Given the description of an element on the screen output the (x, y) to click on. 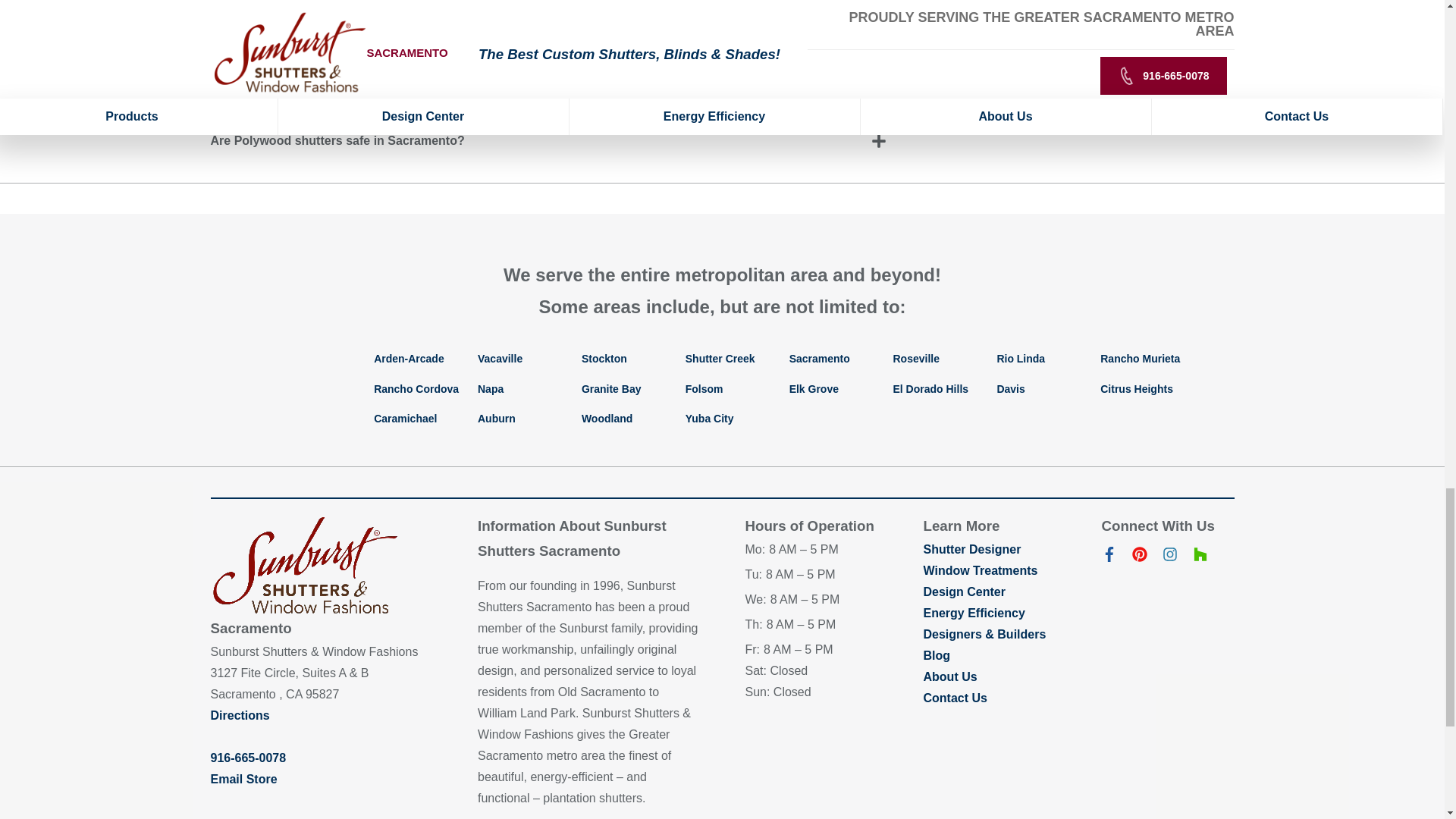
Like us on Facebook (1108, 557)
Follow us on Instagram (1168, 557)
Save us on Houzz (1199, 557)
Follow us on Pinterest (1139, 557)
